Given the description of an element on the screen output the (x, y) to click on. 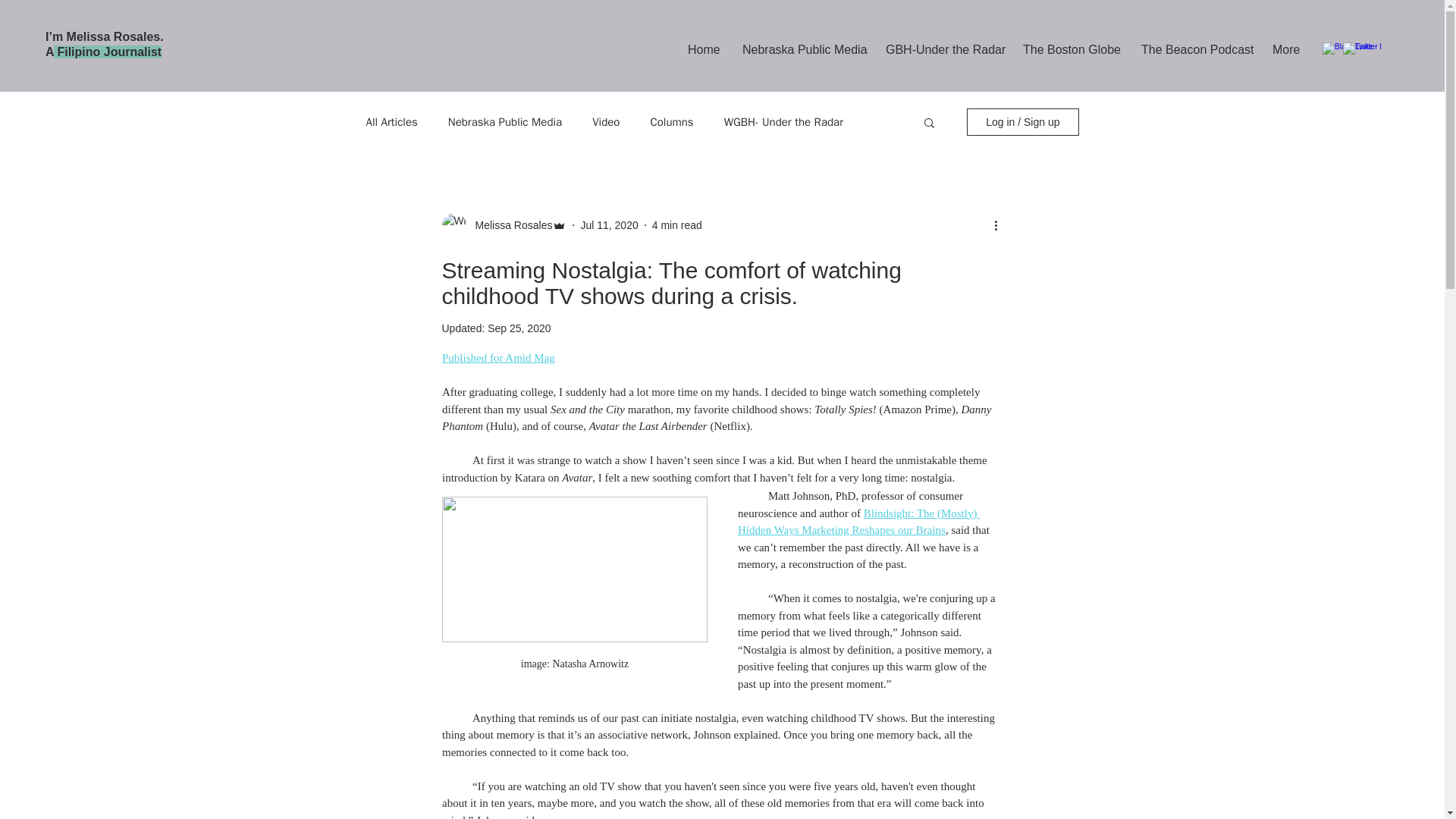
Home (703, 49)
WGBH- Under the Radar (783, 122)
Sep 25, 2020 (518, 328)
Melissa Rosales (508, 224)
All Articles (390, 122)
Nebraska Public Media (505, 122)
The Beacon Podcast (1194, 49)
Video (606, 122)
Published for Amid Mag (497, 357)
The Boston Globe (1070, 49)
